Given the description of an element on the screen output the (x, y) to click on. 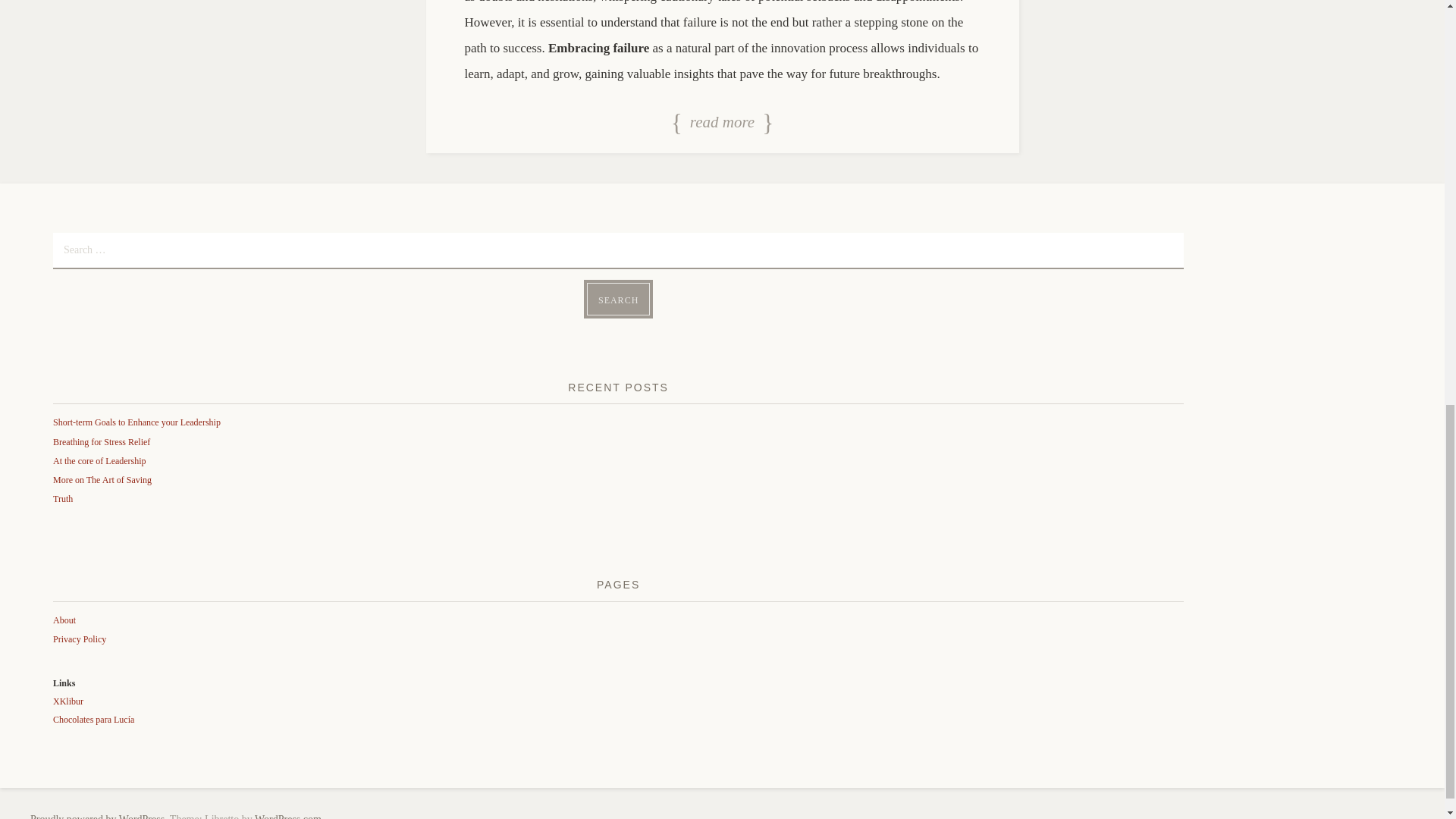
read more (721, 123)
At the core of Leadership (99, 460)
Search (617, 298)
Truth (62, 498)
Search (617, 298)
Short-term Goals to Enhance your Leadership (136, 421)
Search (617, 298)
Breathing for Stress Relief (100, 441)
WordPress.com (287, 816)
Proudly powered by WordPress. (98, 816)
